Given the description of an element on the screen output the (x, y) to click on. 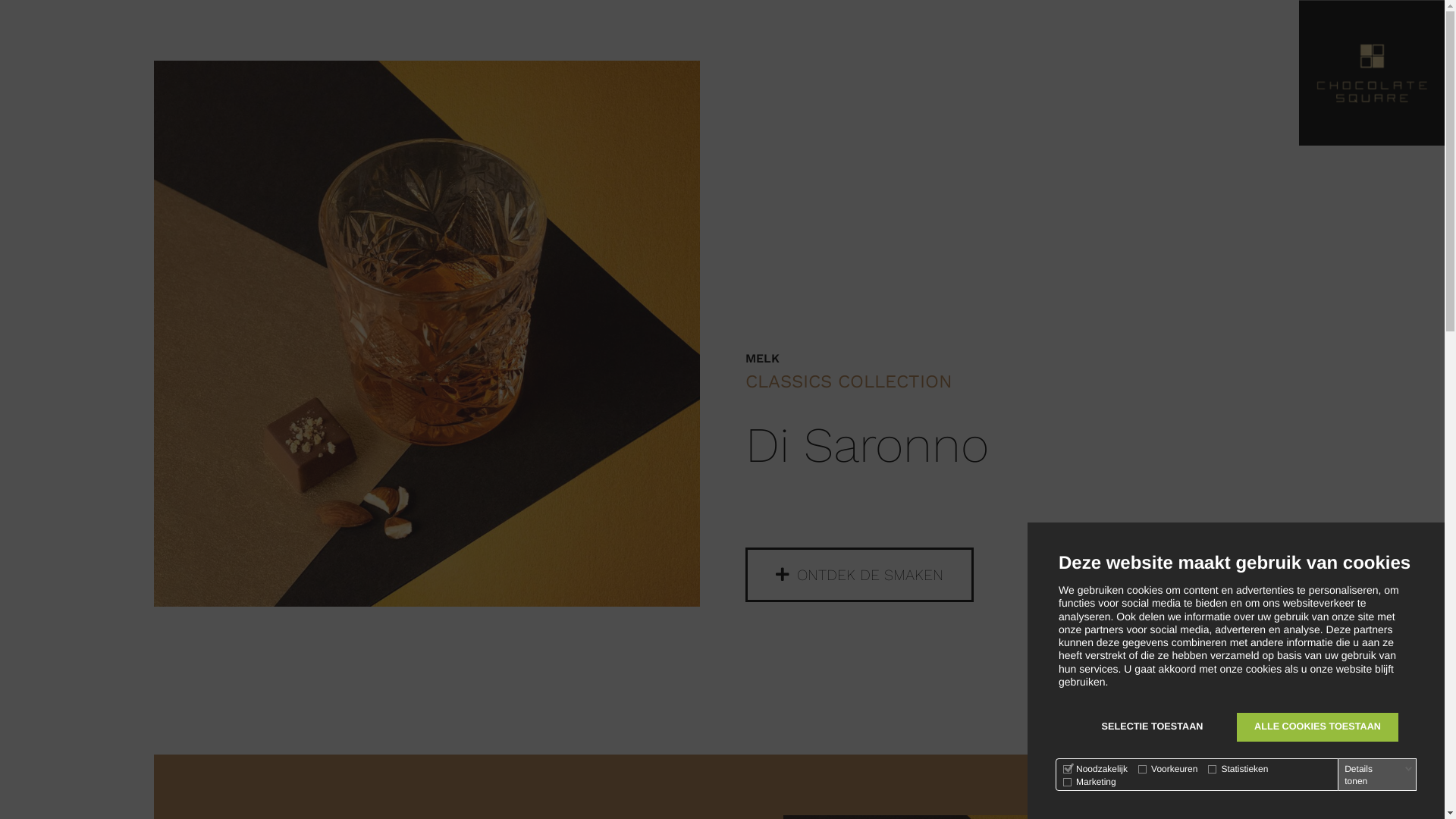
Details tonen Element type: text (1378, 774)
SELECTIE TOESTAAN Element type: text (1151, 726)
NL Element type: text (1356, 784)
FR Element type: text (1399, 784)
ALLE COOKIES TOESTAAN Element type: text (1317, 726)
ONTDEK DE SMAKEN Element type: text (858, 574)
